Given the description of an element on the screen output the (x, y) to click on. 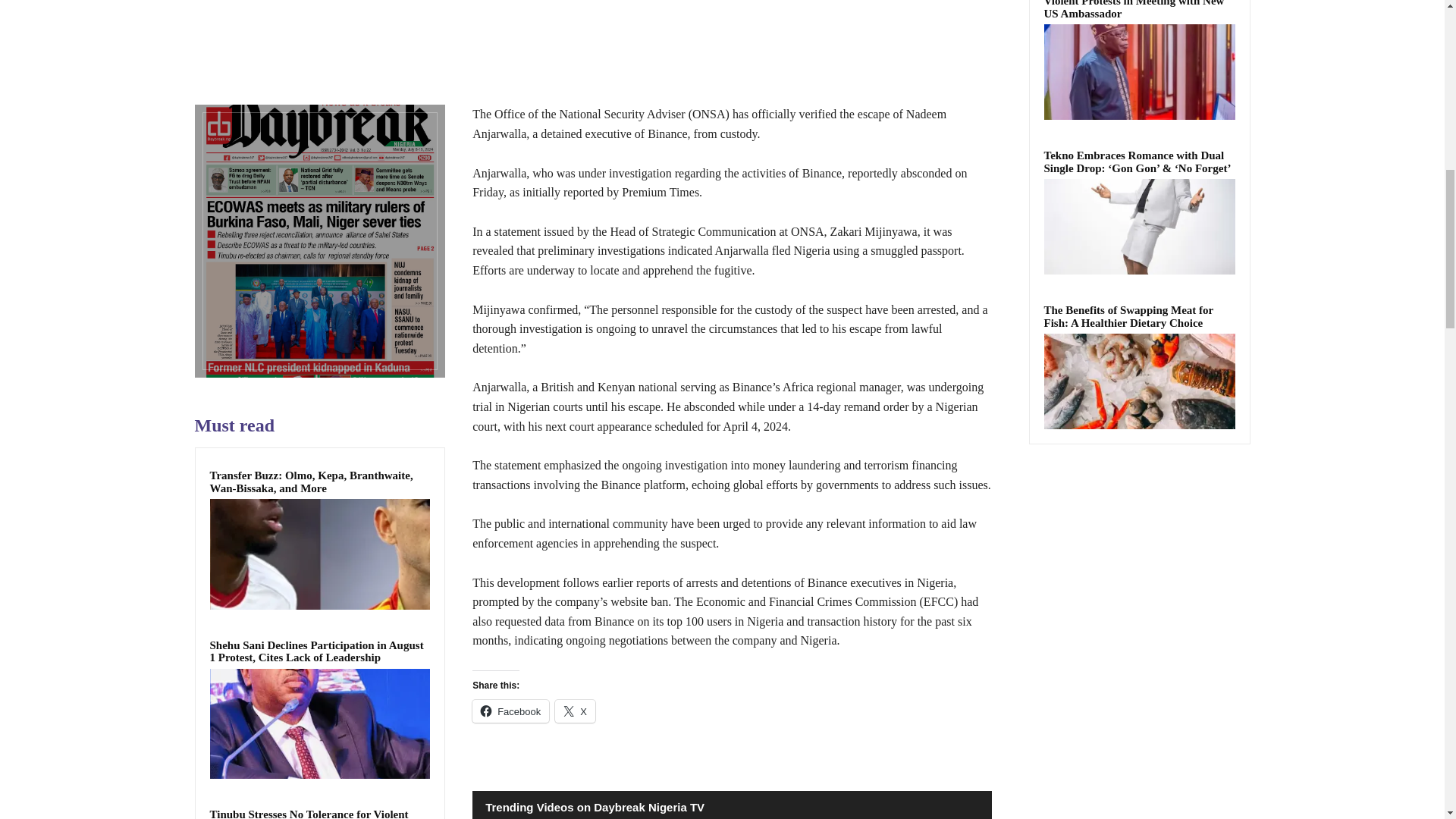
Nadeem-Anjarwalla (592, 33)
